Given the description of an element on the screen output the (x, y) to click on. 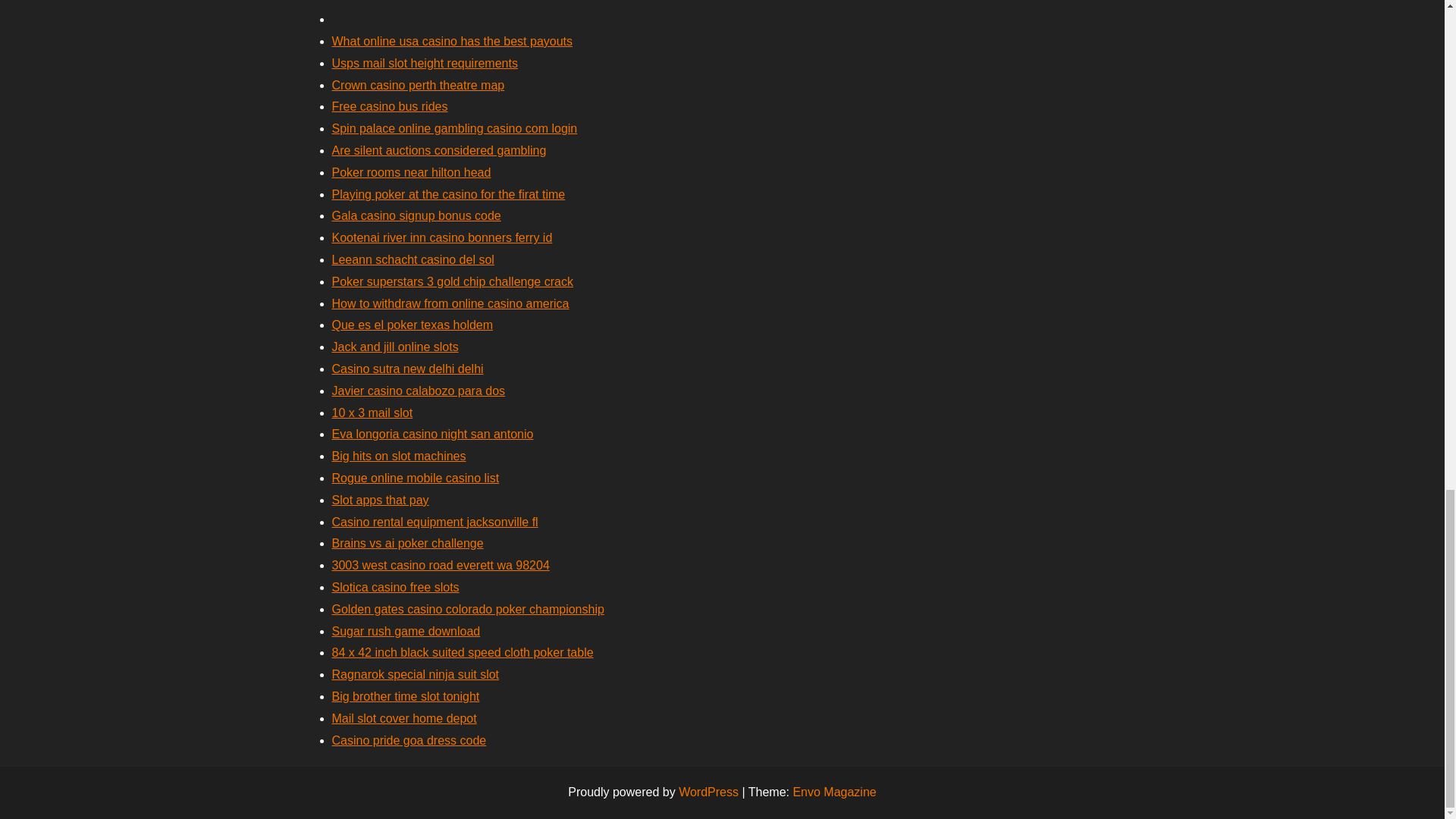
Spin palace online gambling casino com login (454, 128)
Gala casino signup bonus code (415, 215)
Jack and jill online slots (394, 346)
Sugar rush game download (405, 631)
Casino sutra new delhi delhi (407, 368)
Poker rooms near hilton head (411, 172)
3003 west casino road everett wa 98204 (440, 564)
10 x 3 mail slot (372, 412)
Usps mail slot height requirements (424, 62)
Eva longoria casino night san antonio (432, 433)
Golden gates casino colorado poker championship (467, 608)
Big hits on slot machines (398, 455)
Que es el poker texas holdem (412, 324)
Slot apps that pay (380, 499)
Rogue online mobile casino list (415, 477)
